Given the description of an element on the screen output the (x, y) to click on. 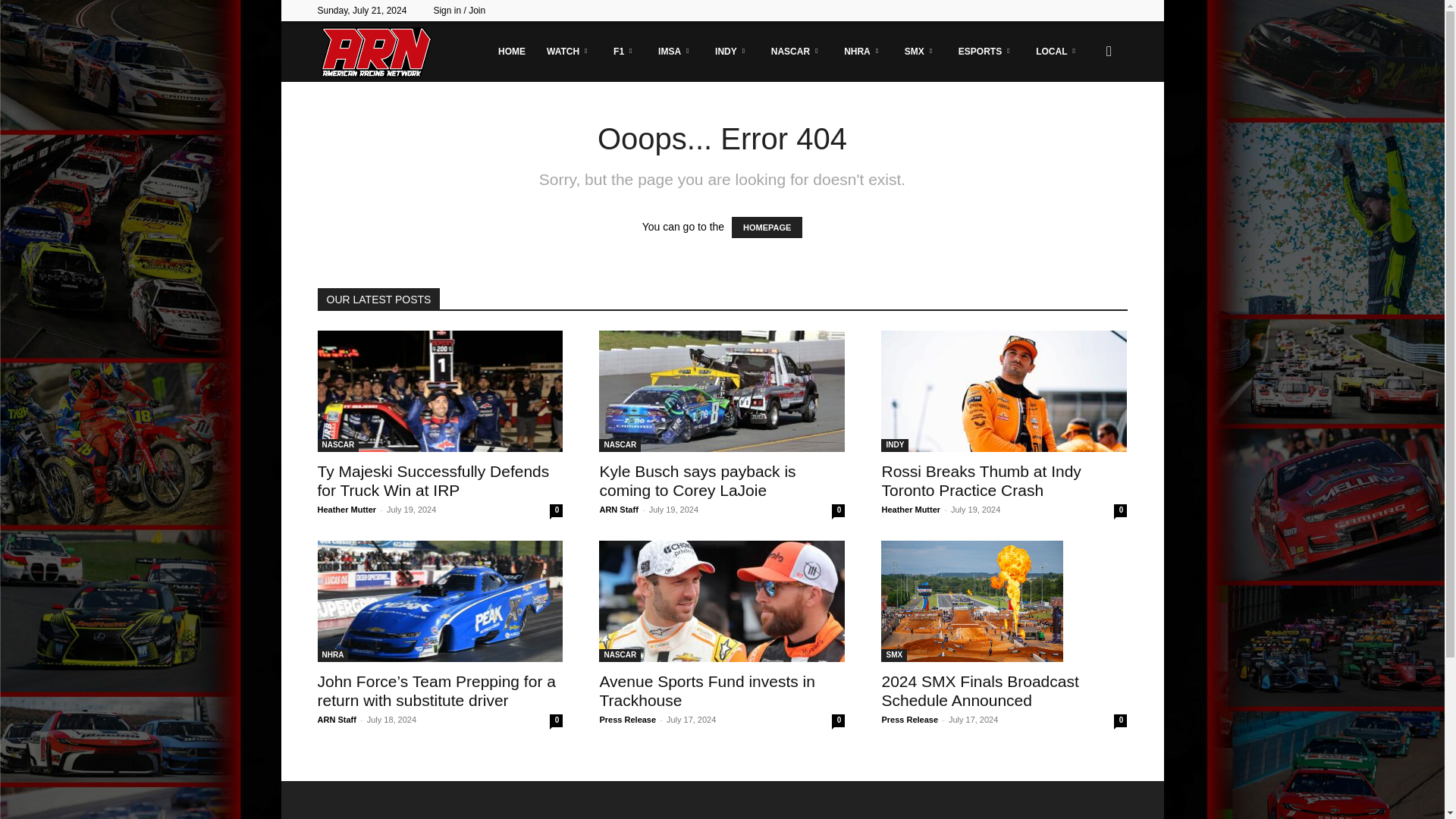
Search (1085, 124)
ARN (375, 51)
WATCH (568, 51)
